Given the description of an element on the screen output the (x, y) to click on. 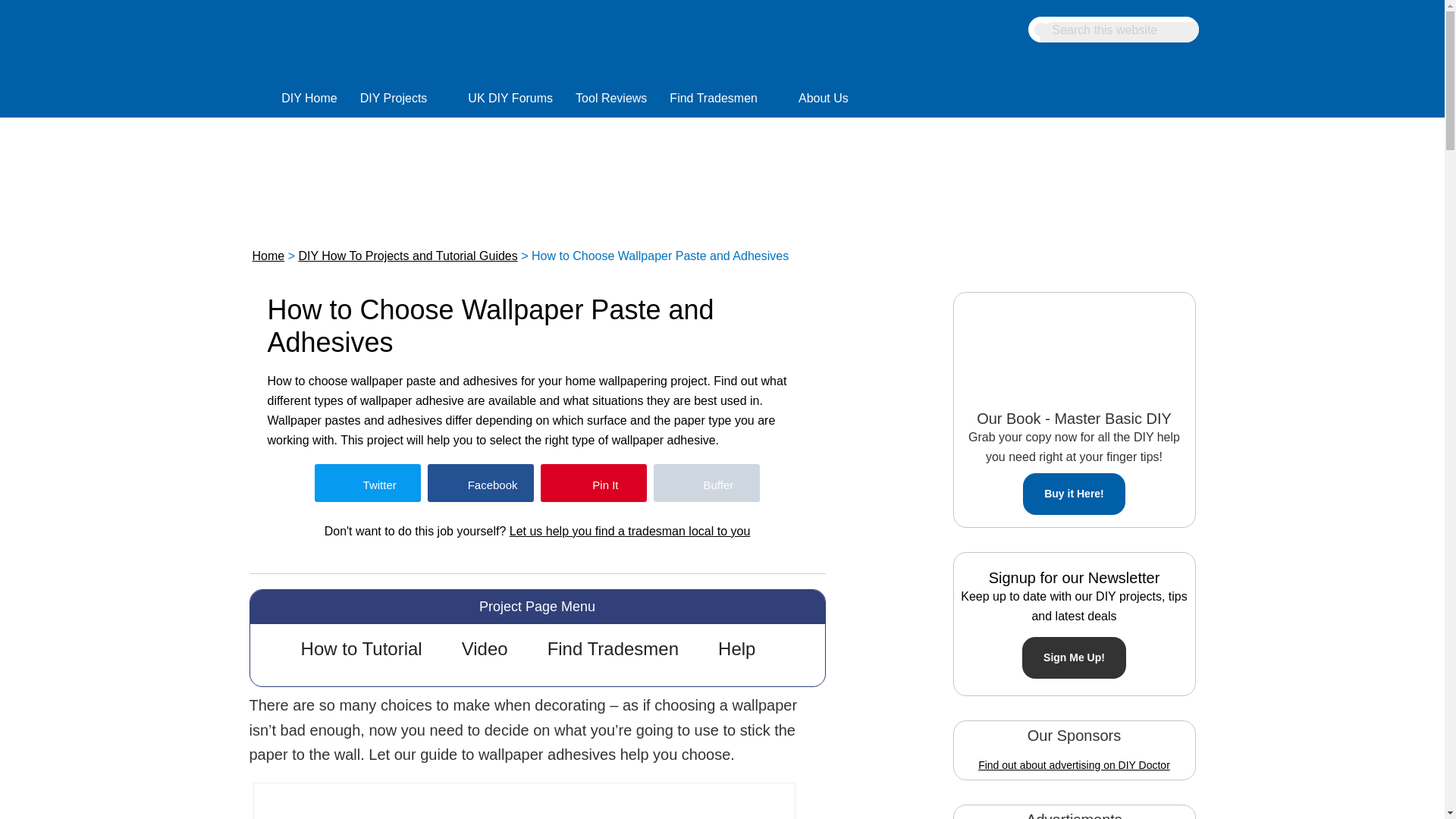
DIY Home (309, 100)
Tool Reviews (611, 100)
UK DIY Forums (510, 94)
DIY Projects (403, 94)
Tool Reviews (611, 94)
DIY Projects (403, 100)
Find Tradesmen (722, 100)
DIY Doctor DIY help and advice (309, 94)
